Given the description of an element on the screen output the (x, y) to click on. 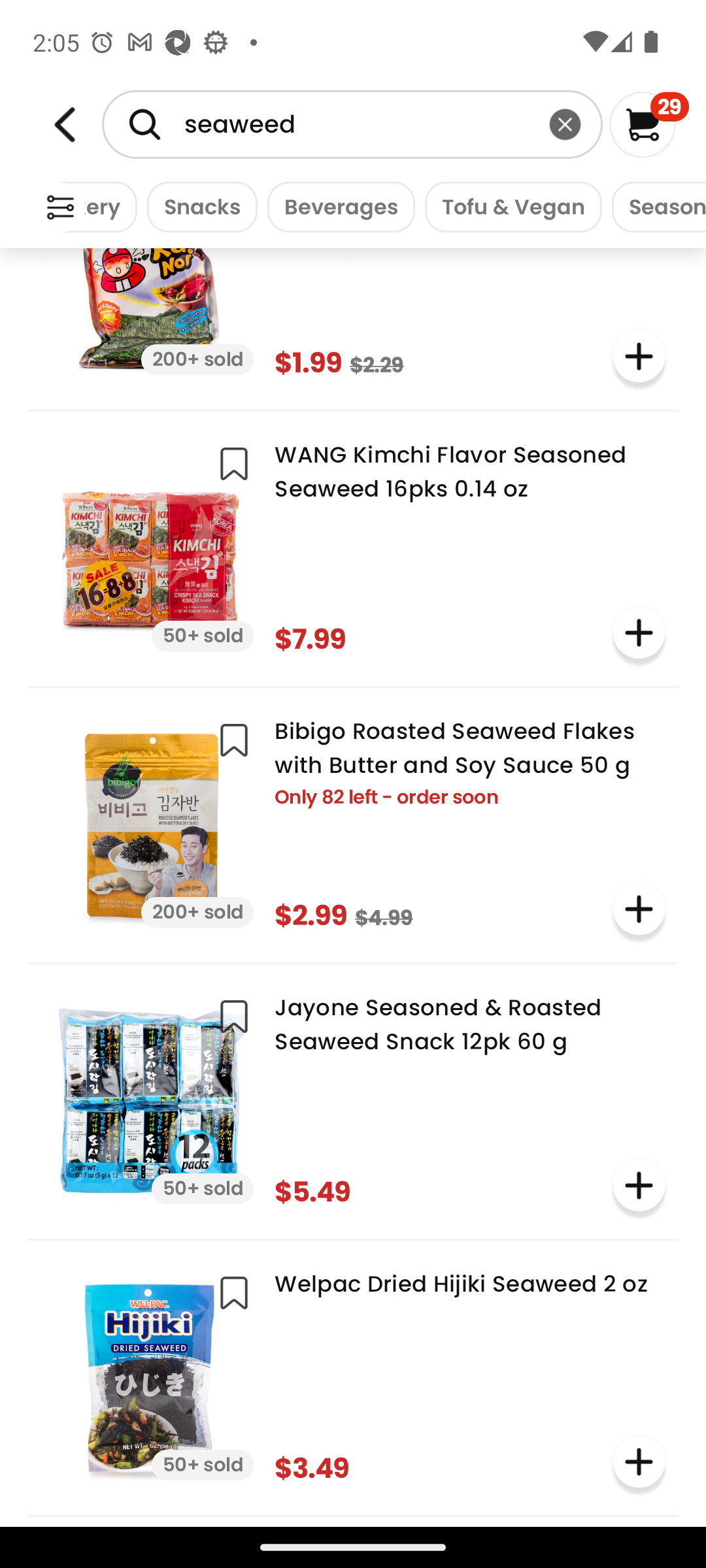
seaweed (351, 124)
29 (649, 124)
Weee! (60, 207)
Bakery (98, 206)
Snacks (196, 206)
Beverages (336, 206)
Tofu & Vegan (508, 206)
Seasoning (654, 206)
200+ sold $1.99 $2.29 (352, 319)
Welpac Dried Hijiki Seaweed 2 oz 50+ sold $3.49 (352, 1375)
